Given the description of an element on the screen output the (x, y) to click on. 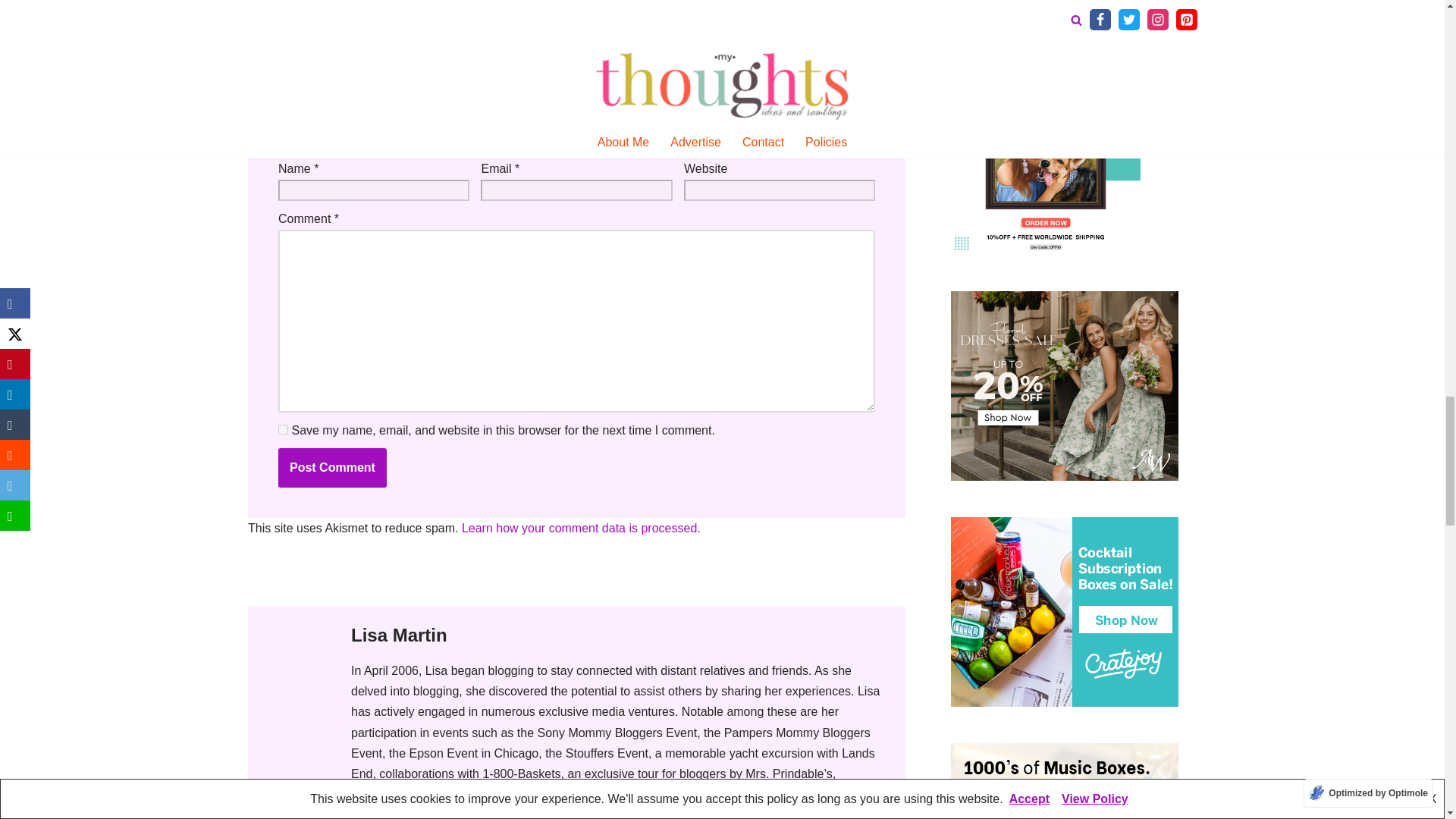
Post Comment (331, 467)
yes (282, 429)
